Given the description of an element on the screen output the (x, y) to click on. 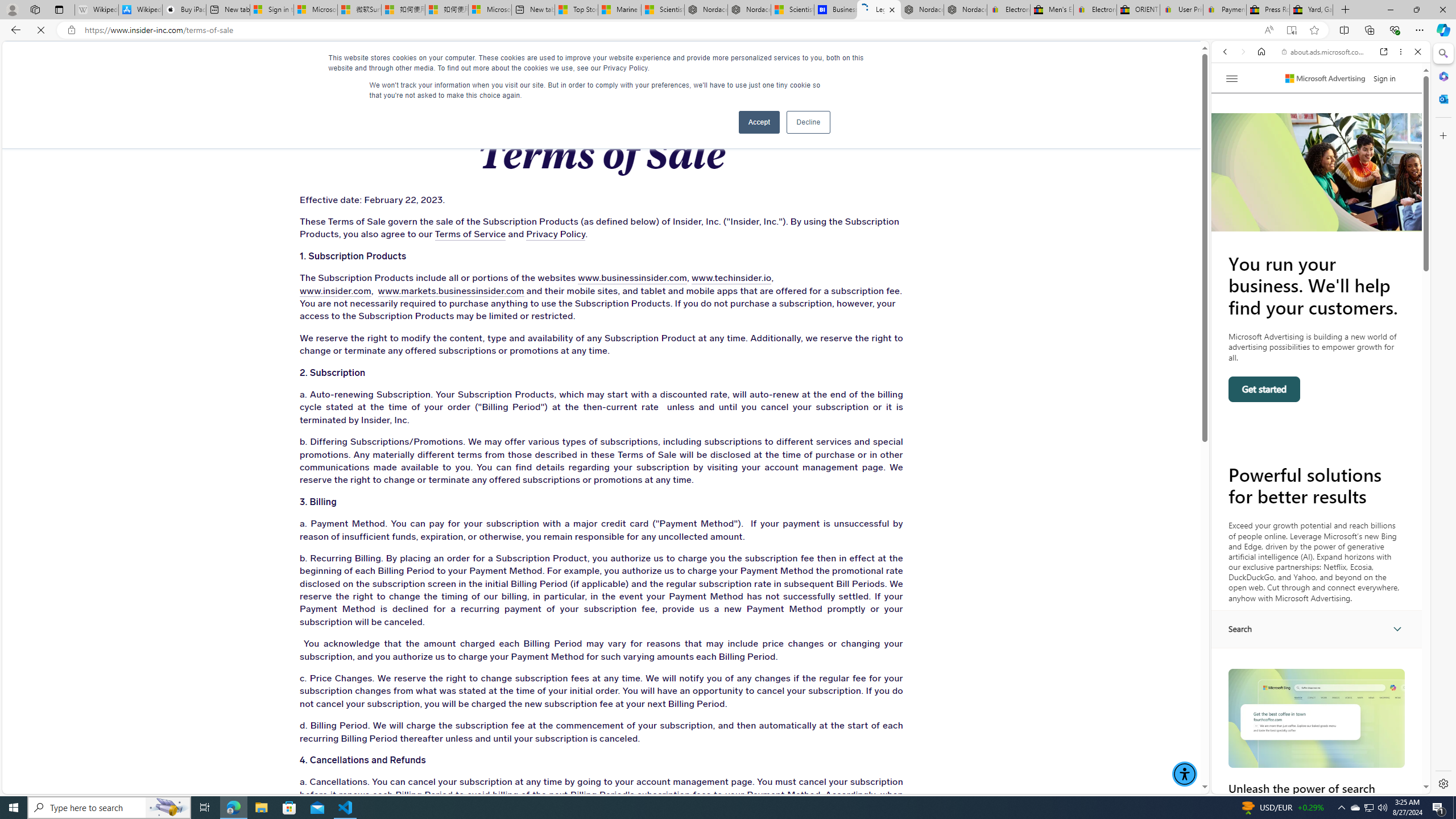
www.insider.com (332, 290)
about.ads.microsoft.com (1323, 51)
CONTACT US (942, 62)
